Given the description of an element on the screen output the (x, y) to click on. 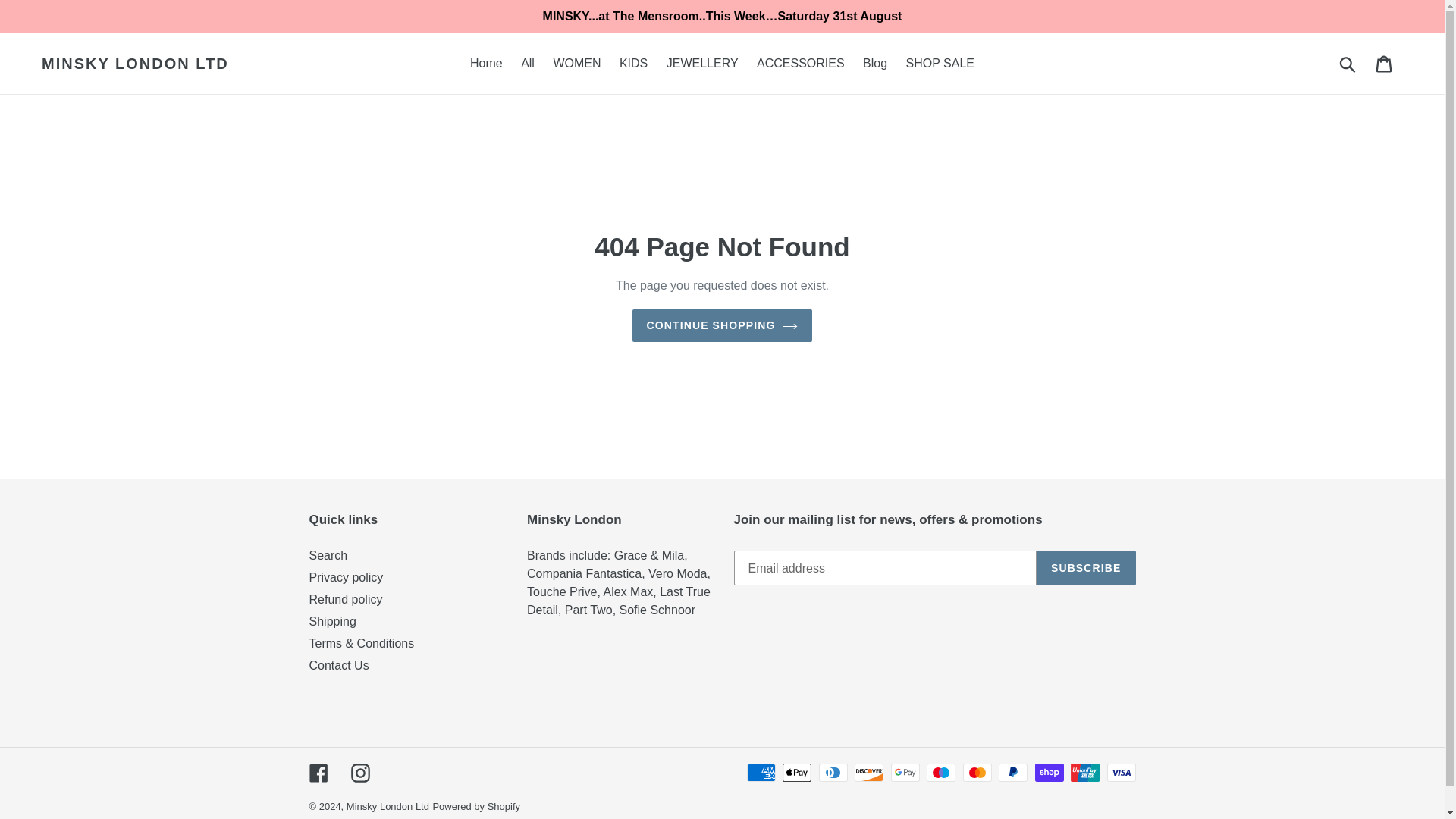
Shipping (332, 621)
Search (327, 554)
Instagram (359, 772)
SHOP SALE (939, 63)
WOMEN (576, 63)
Powered by Shopify (475, 806)
Minsky London Ltd (387, 806)
JEWELLERY (702, 63)
All (527, 63)
Contact Us (338, 665)
